Given the description of an element on the screen output the (x, y) to click on. 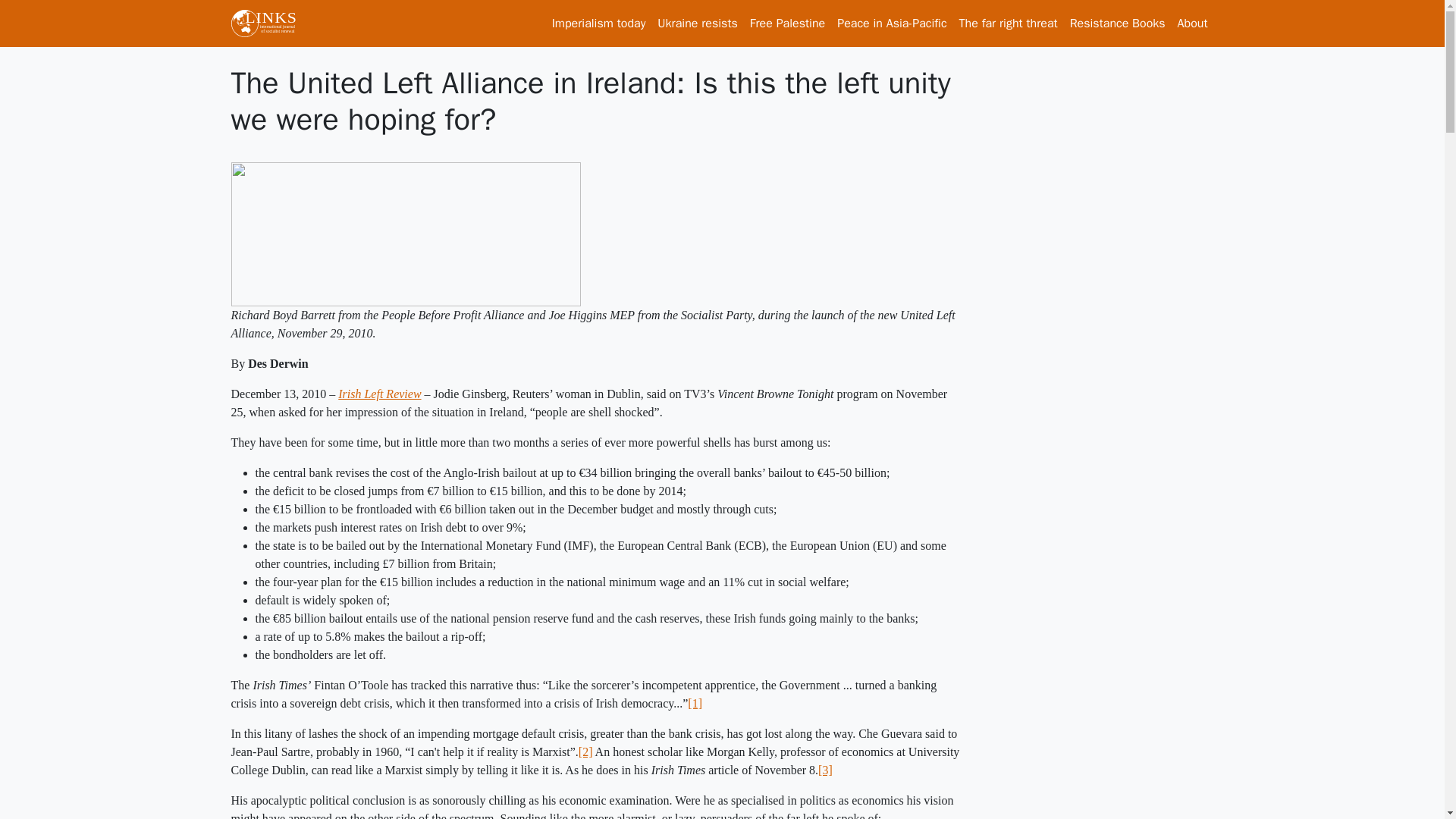
Resistance Books (1118, 23)
The far right threat (1008, 23)
Skip to main content (60, 11)
Imperialism today (599, 23)
Peace in Asia-Pacific (891, 23)
Free Palestine (787, 23)
About (1193, 23)
Ukraine resists (696, 23)
Home (268, 22)
Understanding Putin's war on Ukraine (696, 23)
Irish Left Review (378, 393)
About (1193, 23)
Resistance Books (1118, 23)
